Given the description of an element on the screen output the (x, y) to click on. 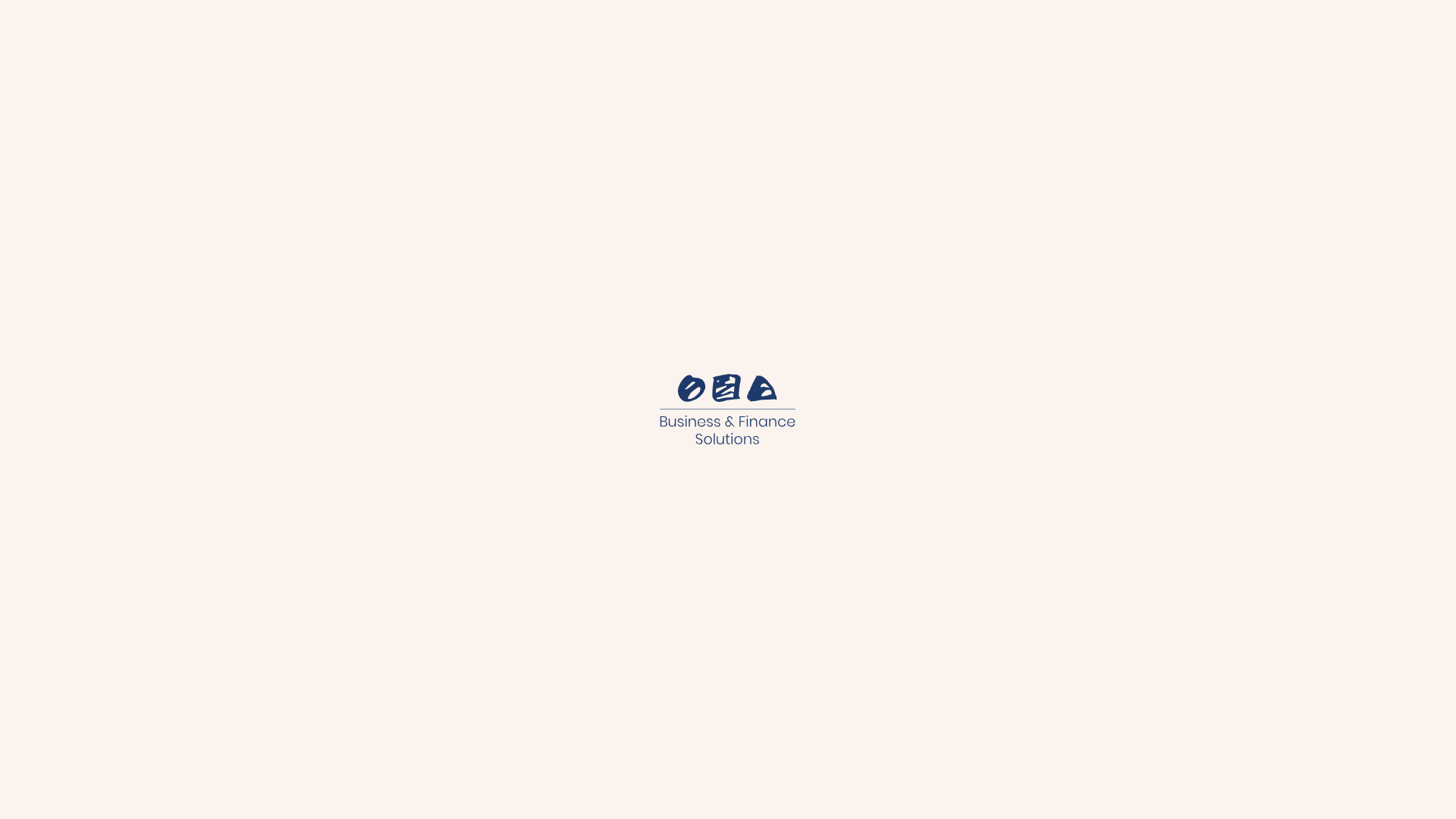
OPPORTUNITIES Element type: text (807, 102)
PERSPECTIVE Element type: text (940, 102)
CASE STUDIES Element type: text (671, 102)
EXPERTISE Element type: text (553, 102)
CONTACT Element type: text (1050, 102)
ABOUT Element type: text (461, 102)
